Given the description of an element on the screen output the (x, y) to click on. 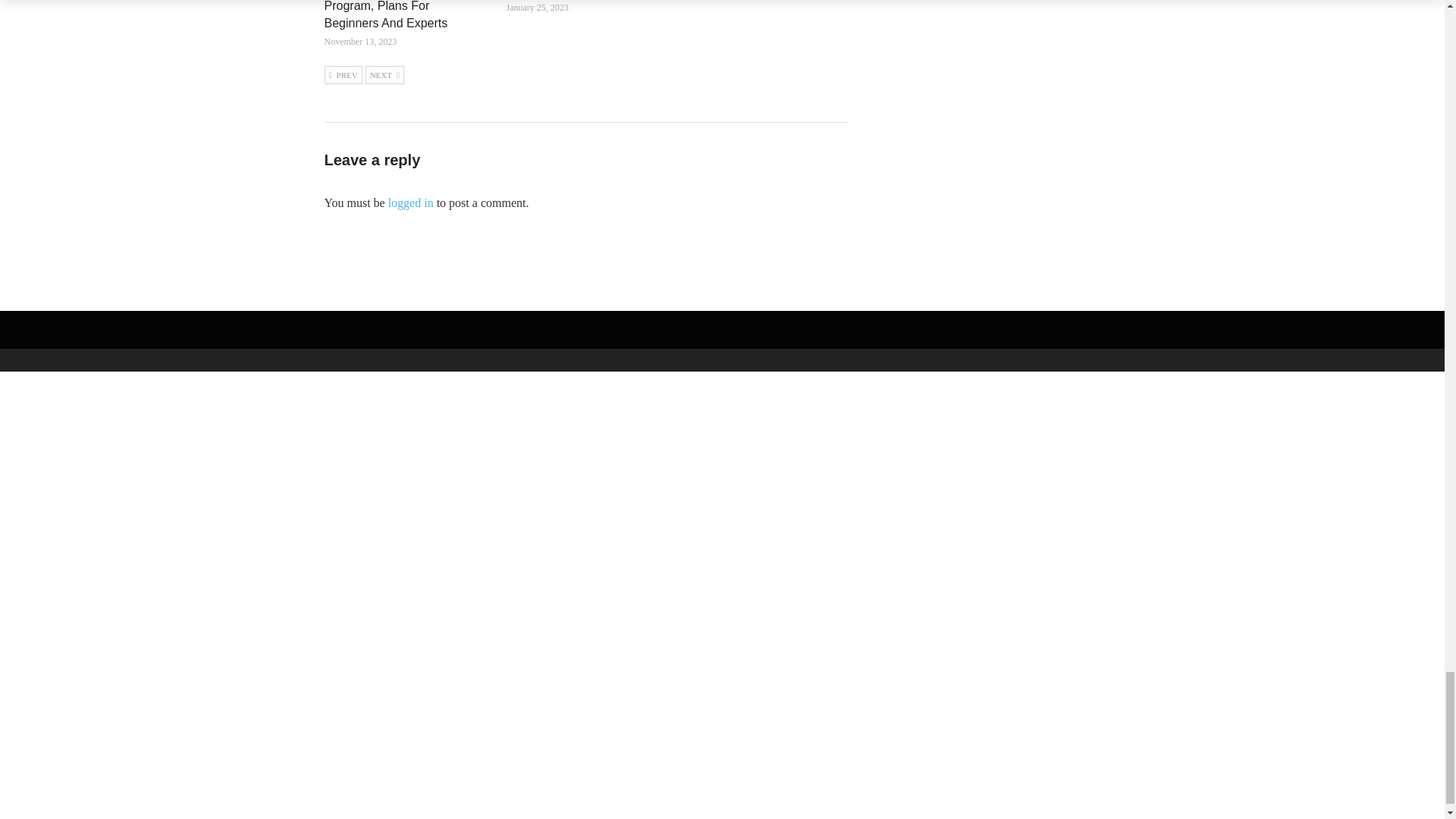
Next (384, 75)
logged in (410, 202)
PREV (343, 75)
NEXT (384, 75)
Previous (343, 75)
